Given the description of an element on the screen output the (x, y) to click on. 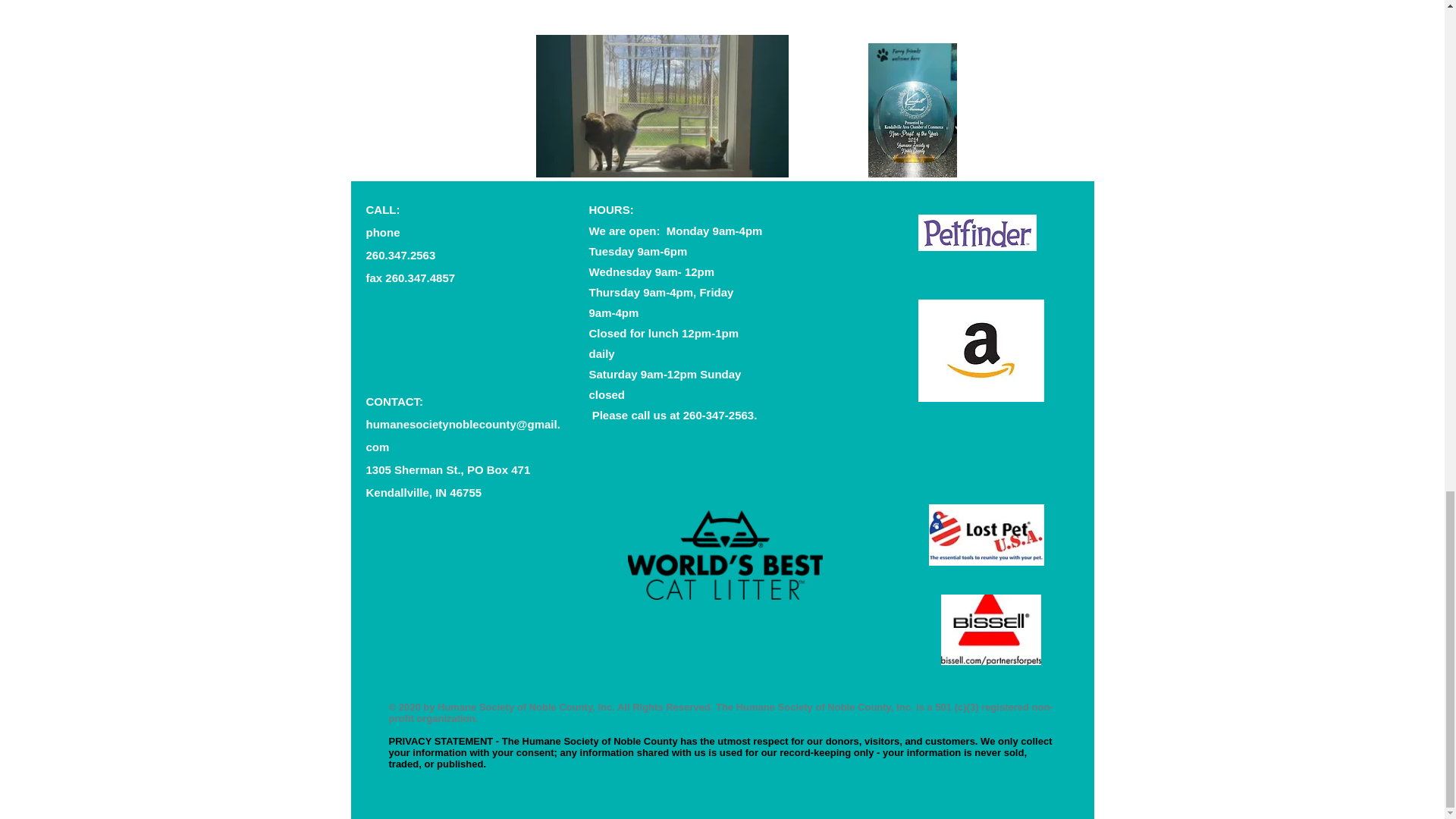
BISSELL PFP Logo.jpg (990, 629)
amazon smile.jpg (980, 350)
Lost Pet USA Logo.jpg (985, 534)
External YouTube (456, 49)
